Given the description of an element on the screen output the (x, y) to click on. 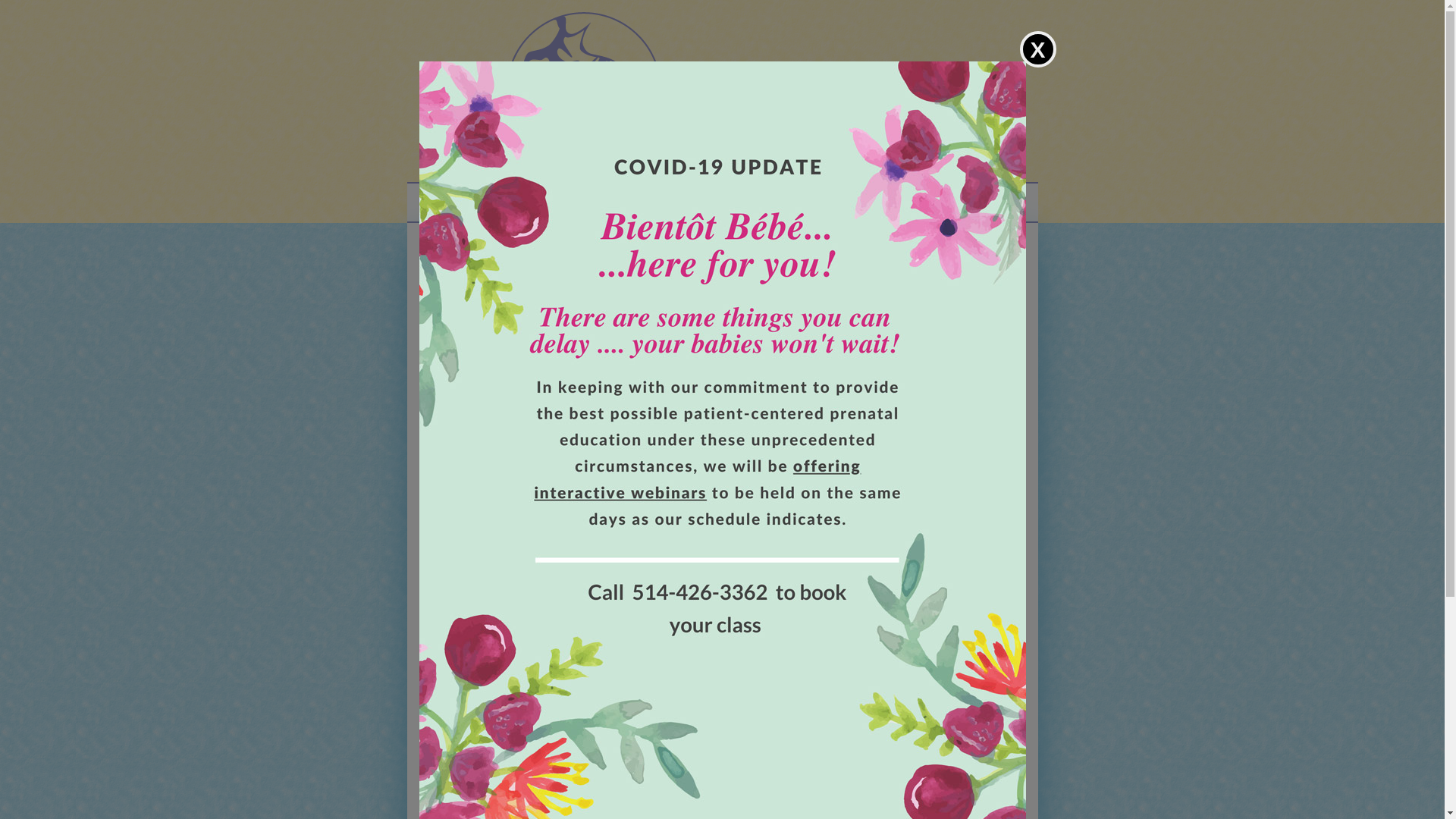
X Element type: text (721, 409)
CPR Element type: text (810, 203)
Childbirth classes Element type: text (735, 203)
Gallery Element type: text (867, 203)
About us Element type: text (561, 203)
Home Element type: text (497, 203)
Testimonials Element type: text (640, 203)
Contact Us Element type: text (940, 203)
